Given the description of an element on the screen output the (x, y) to click on. 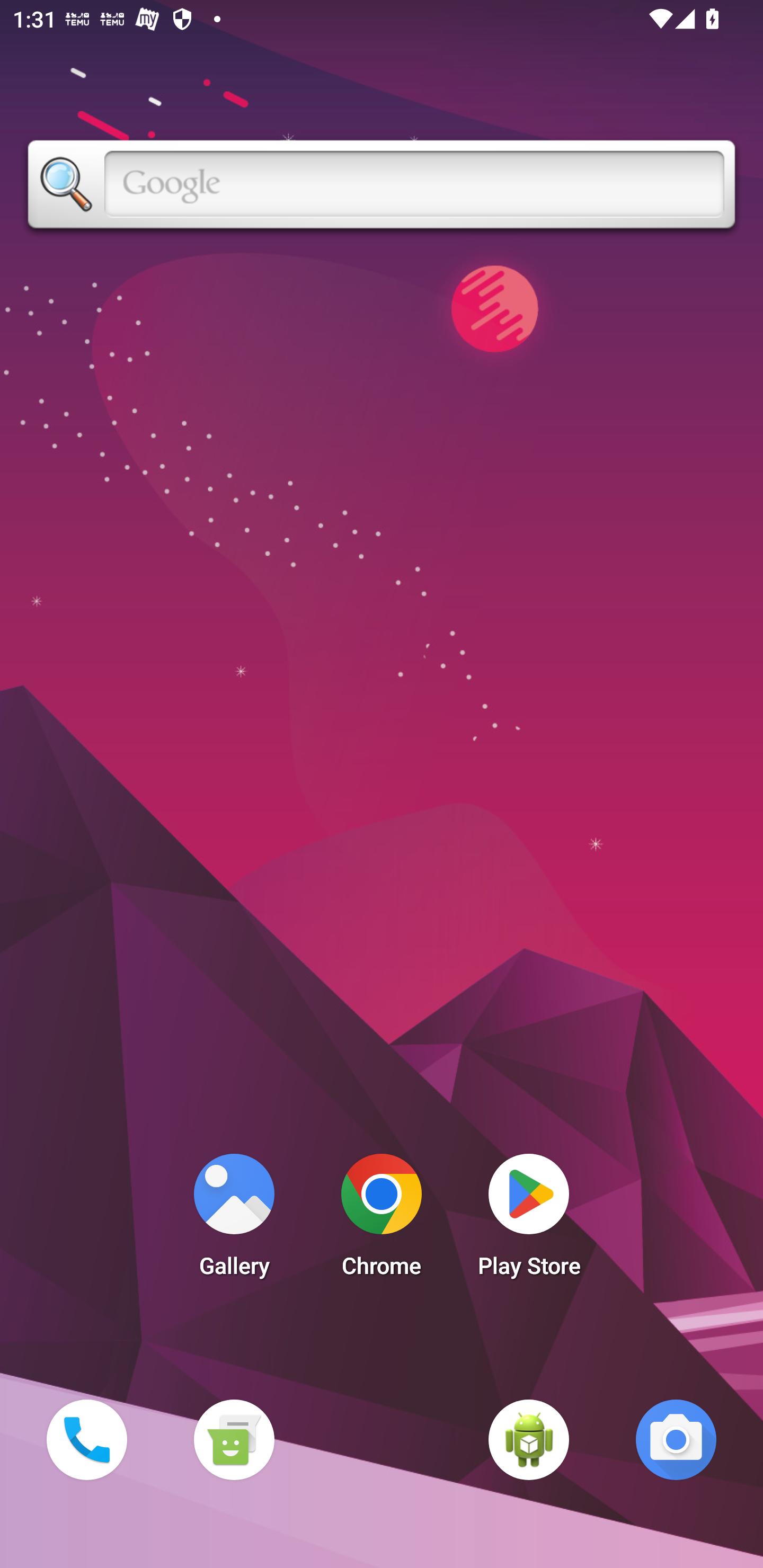
Gallery (233, 1220)
Chrome (381, 1220)
Play Store (528, 1220)
Phone (86, 1439)
Messaging (233, 1439)
WebView Browser Tester (528, 1439)
Camera (676, 1439)
